Given the description of an element on the screen output the (x, y) to click on. 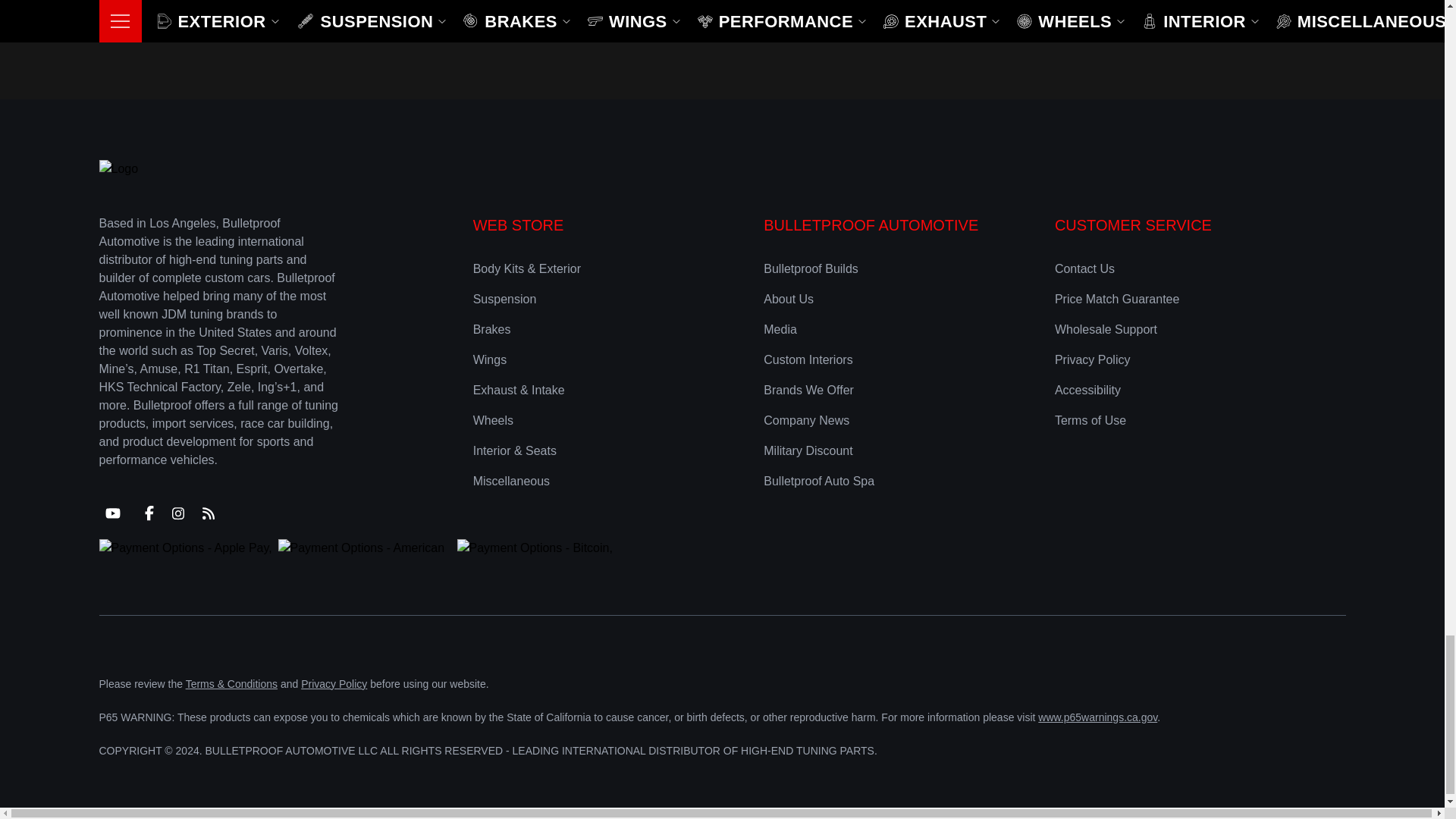
Instagram (177, 513)
YouTube (112, 513)
RSS Feed (207, 513)
